Given the description of an element on the screen output the (x, y) to click on. 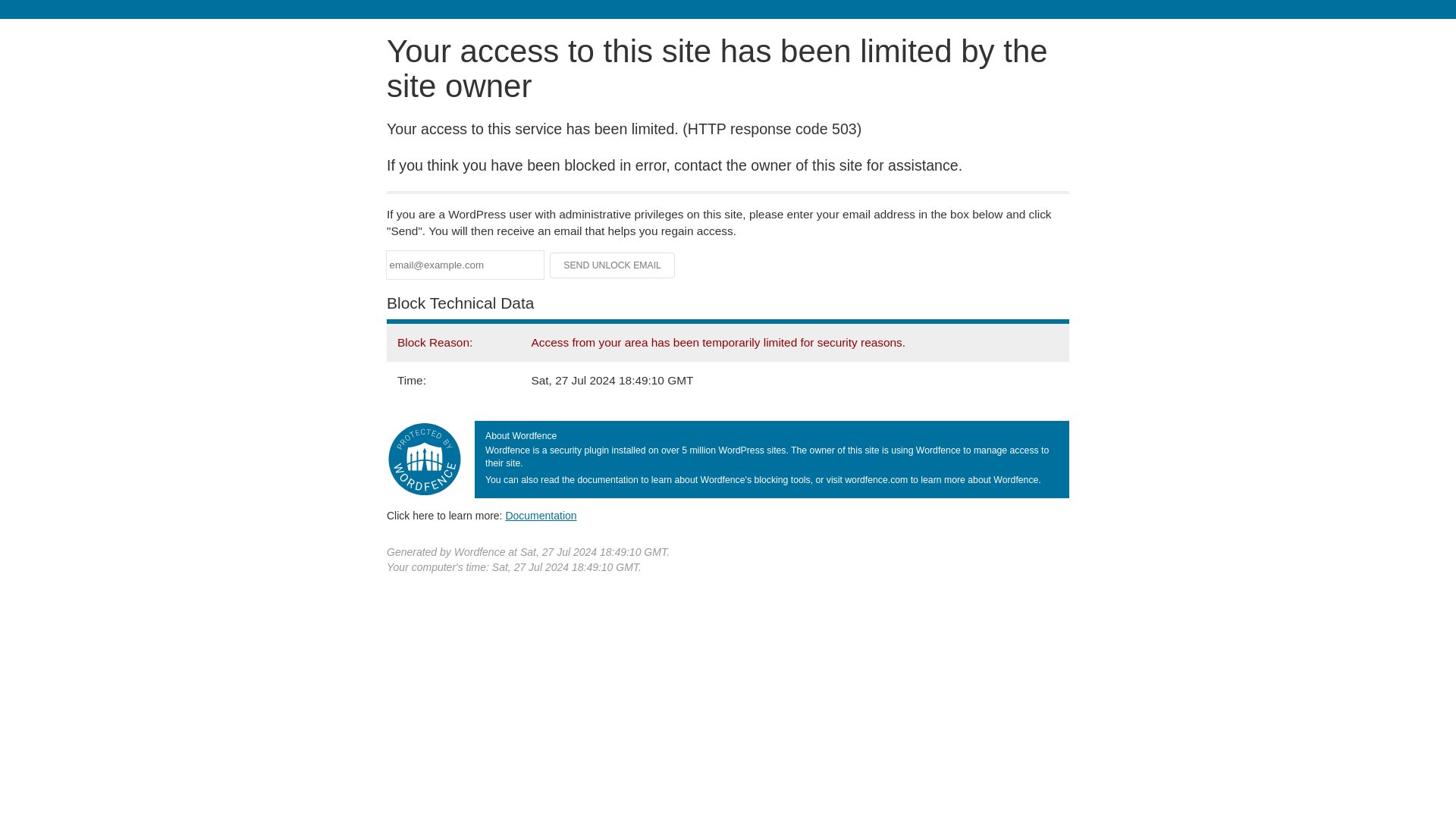
Documentation (540, 515)
Send Unlock Email (612, 265)
Send Unlock Email (612, 265)
